Given the description of an element on the screen output the (x, y) to click on. 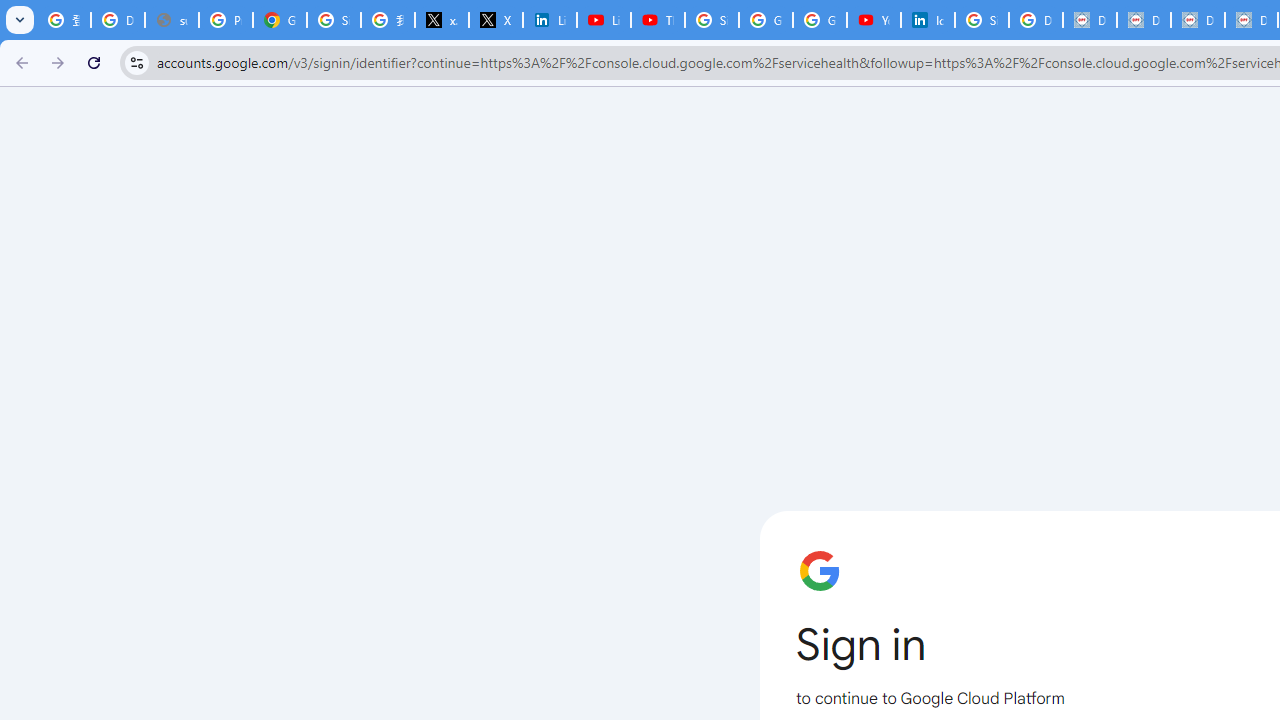
Data Privacy Framework (1089, 20)
Sign in - Google Accounts (711, 20)
X (495, 20)
support.google.com - Network error (171, 20)
Sign in - Google Accounts (333, 20)
Data Privacy Framework (1144, 20)
Privacy Help Center - Policies Help (225, 20)
